Given the description of an element on the screen output the (x, y) to click on. 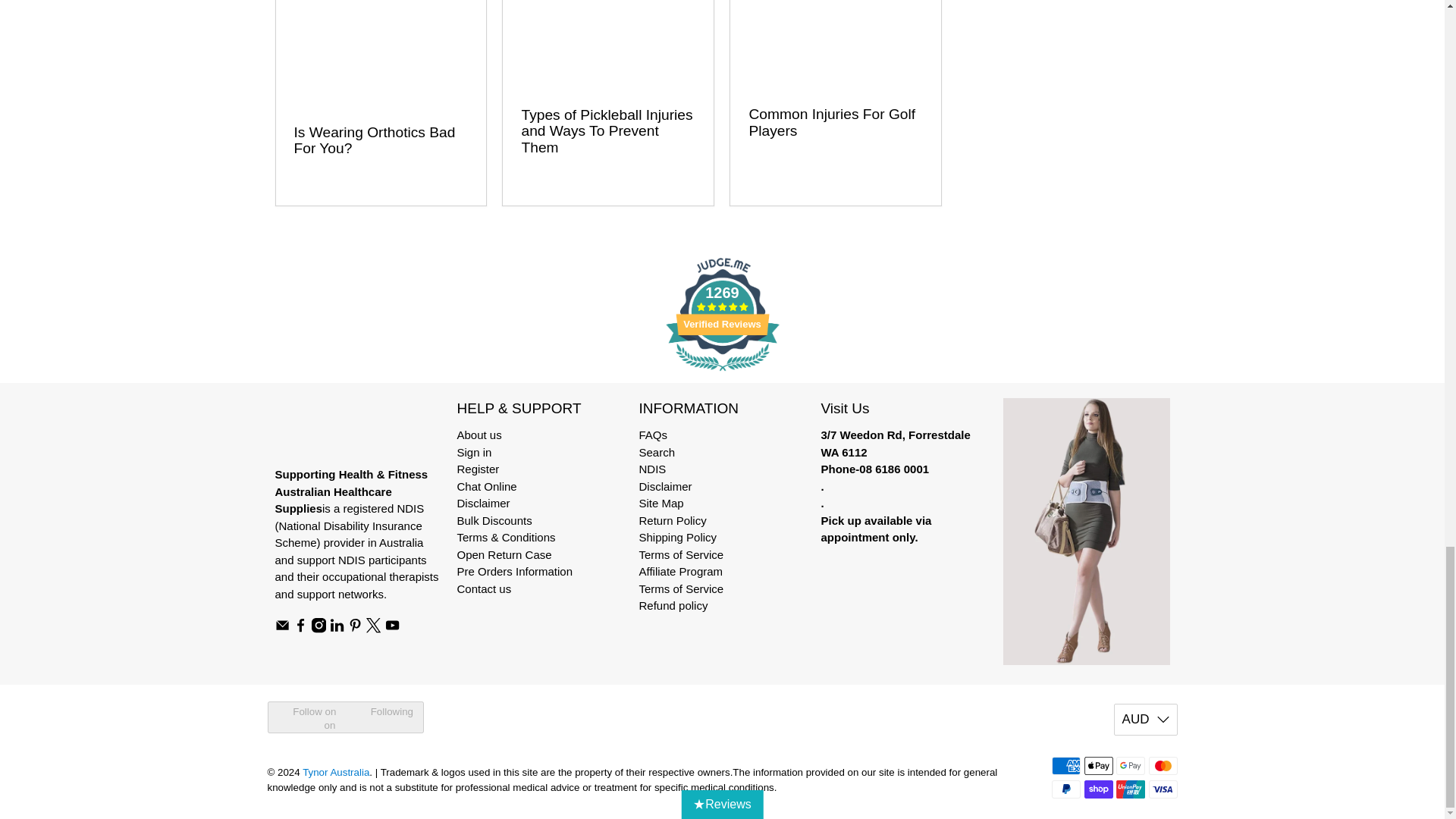
Apple Pay (1098, 765)
Types of Pickleball Injuries and Ways To Prevent Them (607, 43)
Union Pay (1130, 789)
Shop Pay (1098, 789)
Types of Pickleball Injuries and Ways To Prevent Them (607, 131)
Mastercard (1162, 765)
Google Pay (1130, 765)
Is Wearing Orthotics Bad For You? (374, 140)
Registered NDIS Partner (349, 525)
Common Injuries For Golf Players (831, 122)
Tynor Australia (341, 432)
Visa (1162, 789)
PayPal (1065, 789)
American Express (1065, 765)
Common Injuries For Golf Players (835, 43)
